Given the description of an element on the screen output the (x, y) to click on. 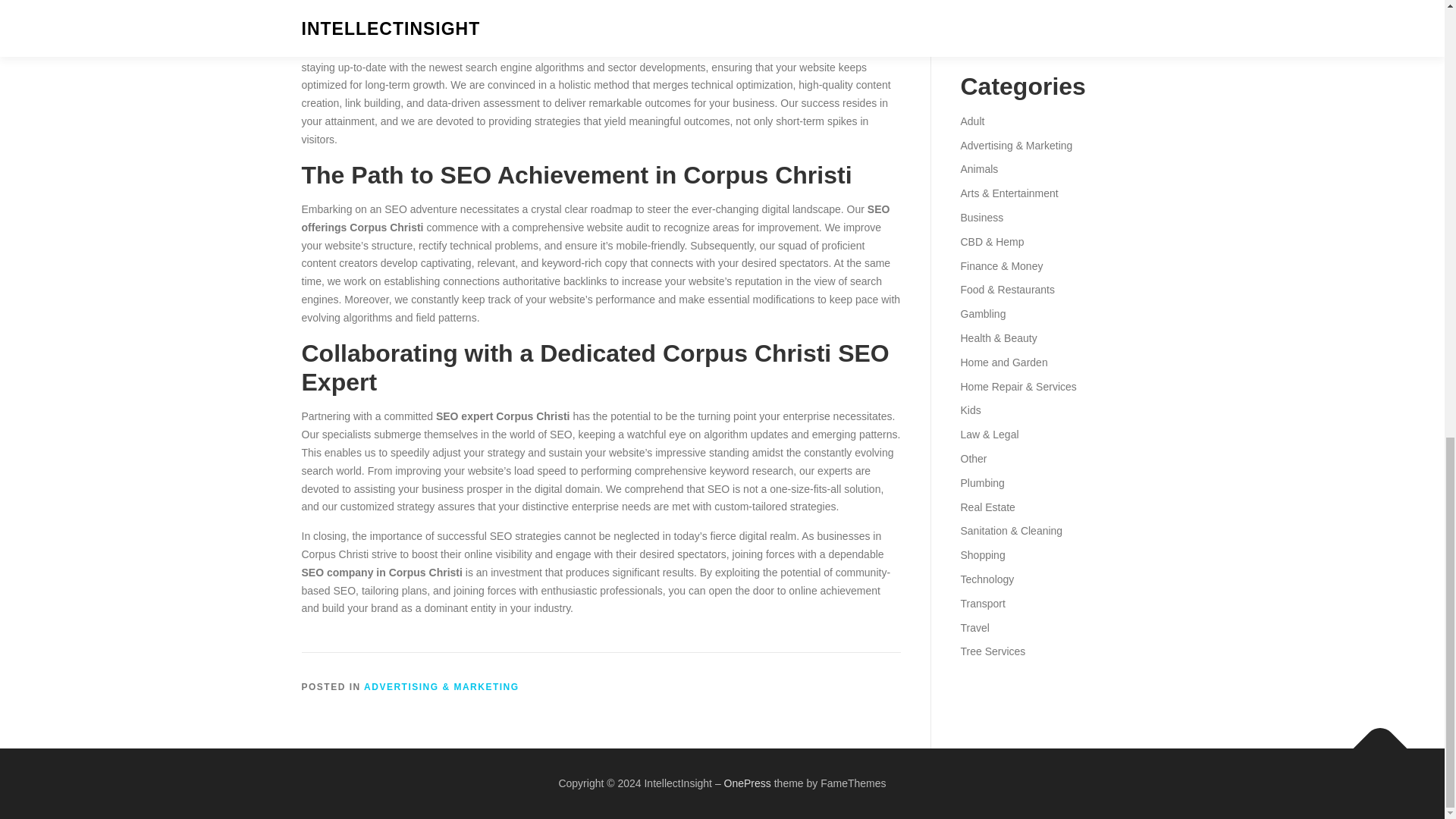
Back To Top (1372, 740)
Adult (971, 121)
Business (981, 217)
May 2023 (982, 4)
Animals (978, 168)
Gambling (982, 313)
April 2023 (983, 26)
